Given the description of an element on the screen output the (x, y) to click on. 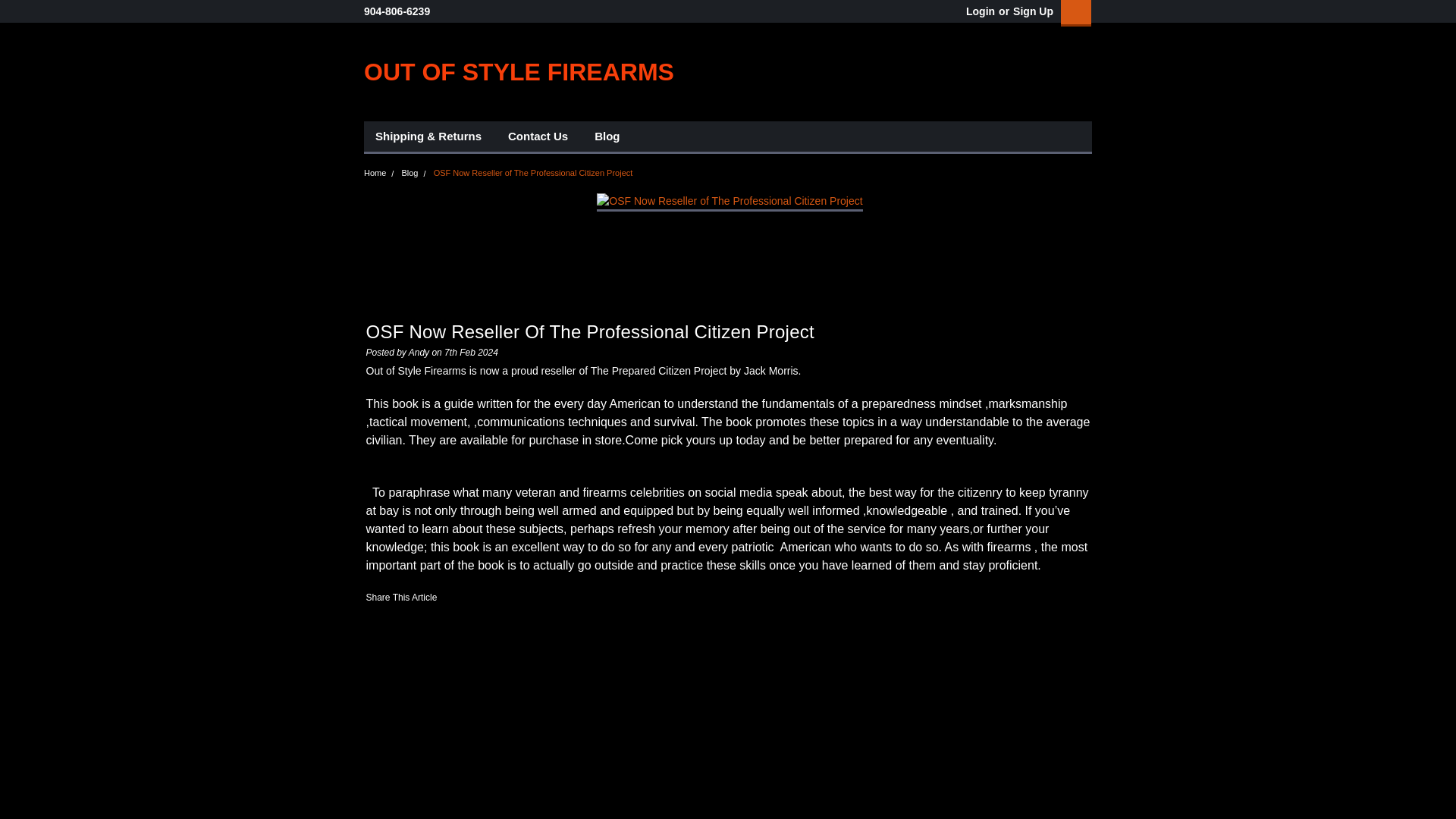
OSF Now Reseller of The Professional Citizen Project  (728, 201)
Login (980, 11)
OUT OF STYLE FIREARMS (519, 72)
Sign Up (1030, 11)
